Given the description of an element on the screen output the (x, y) to click on. 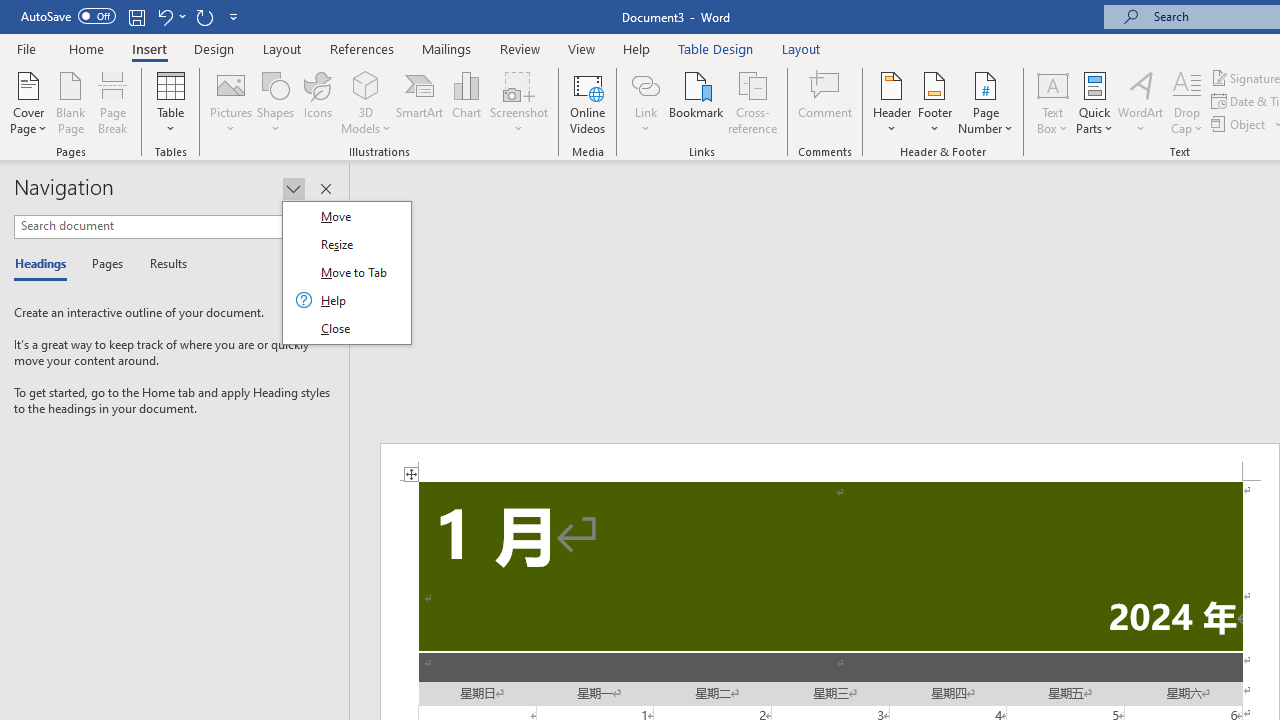
Undo Increase Indent (164, 15)
Headings (45, 264)
Pages (105, 264)
Shapes (275, 102)
Cross-reference... (752, 102)
Blank Page (70, 102)
Repeat Doc Close (204, 15)
Cover Page (28, 102)
WordArt (1141, 102)
Page Break (113, 102)
Comment (825, 102)
Footer (934, 102)
Results (161, 264)
